Given the description of an element on the screen output the (x, y) to click on. 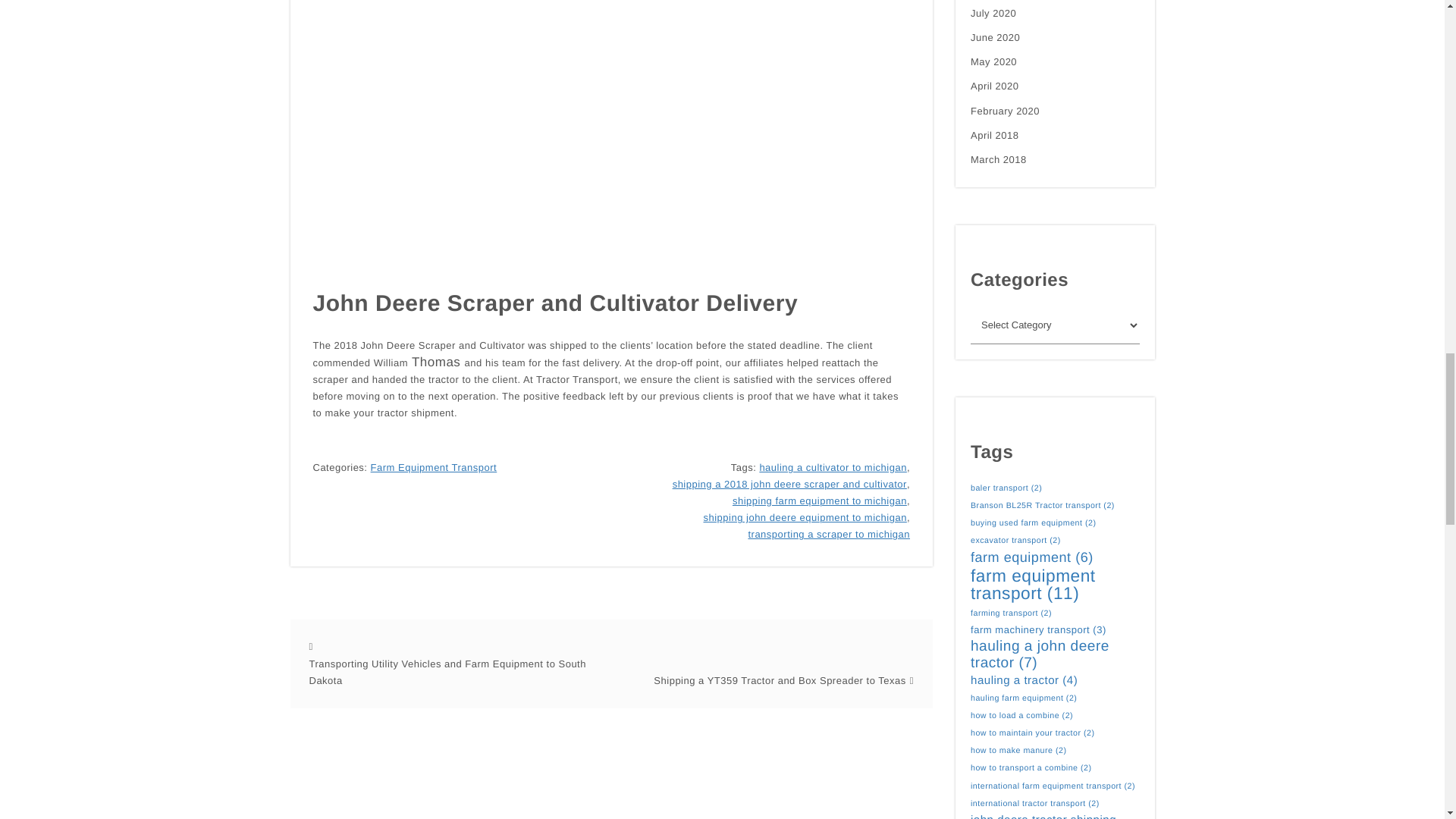
transporting a scraper to michigan (829, 534)
shipping john deere equipment to michigan (804, 517)
Farm Equipment Transport (434, 467)
Shipping a YT359 Tractor and Box Spreader to Texas (779, 680)
shipping farm equipment to michigan (819, 501)
shipping a 2018 john deere scraper and cultivator (789, 484)
hauling a cultivator to michigan (832, 467)
